Given the description of an element on the screen output the (x, y) to click on. 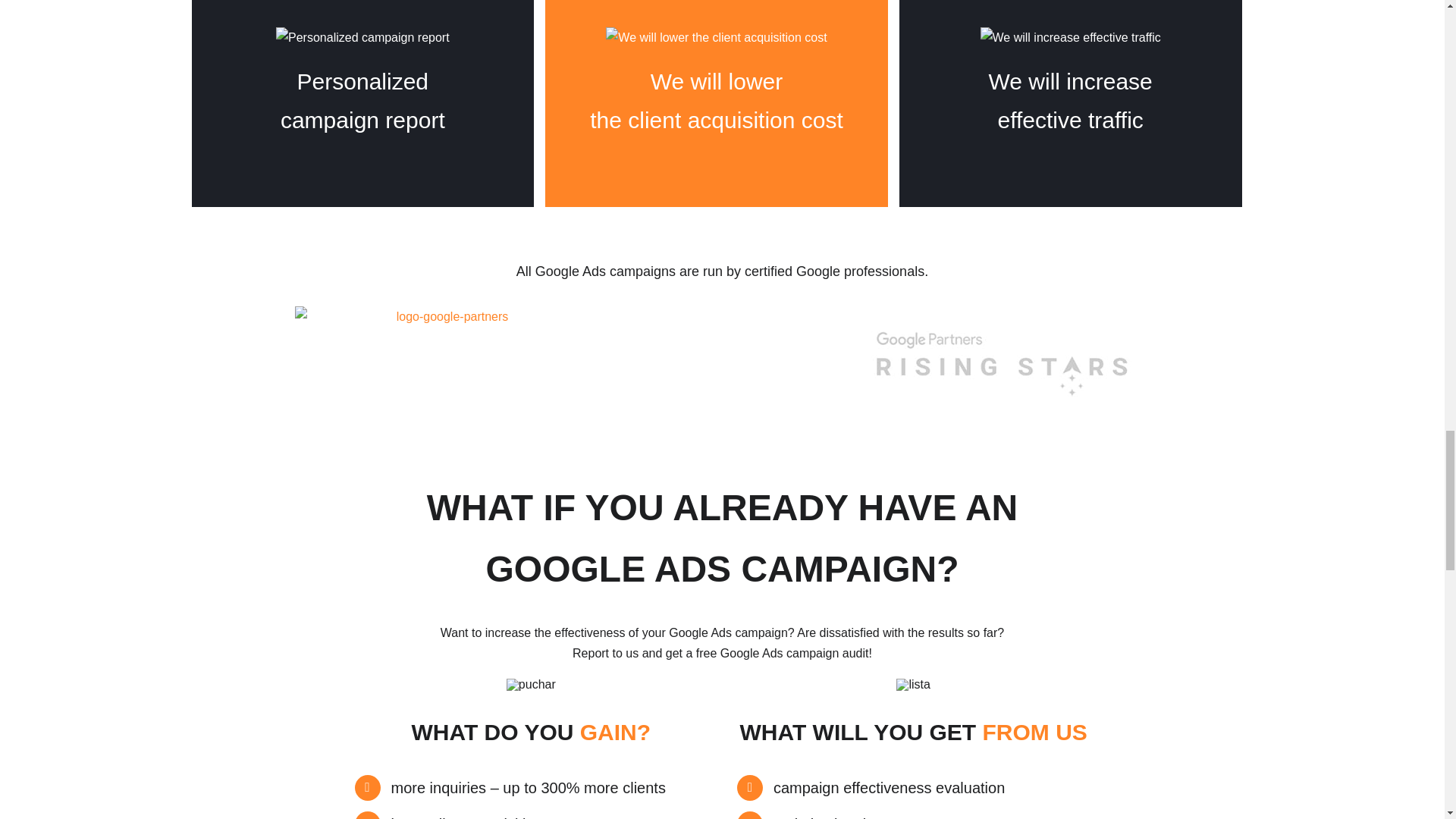
Google Ads 12 (362, 37)
Google Ads 13 (716, 37)
